Given the description of an element on the screen output the (x, y) to click on. 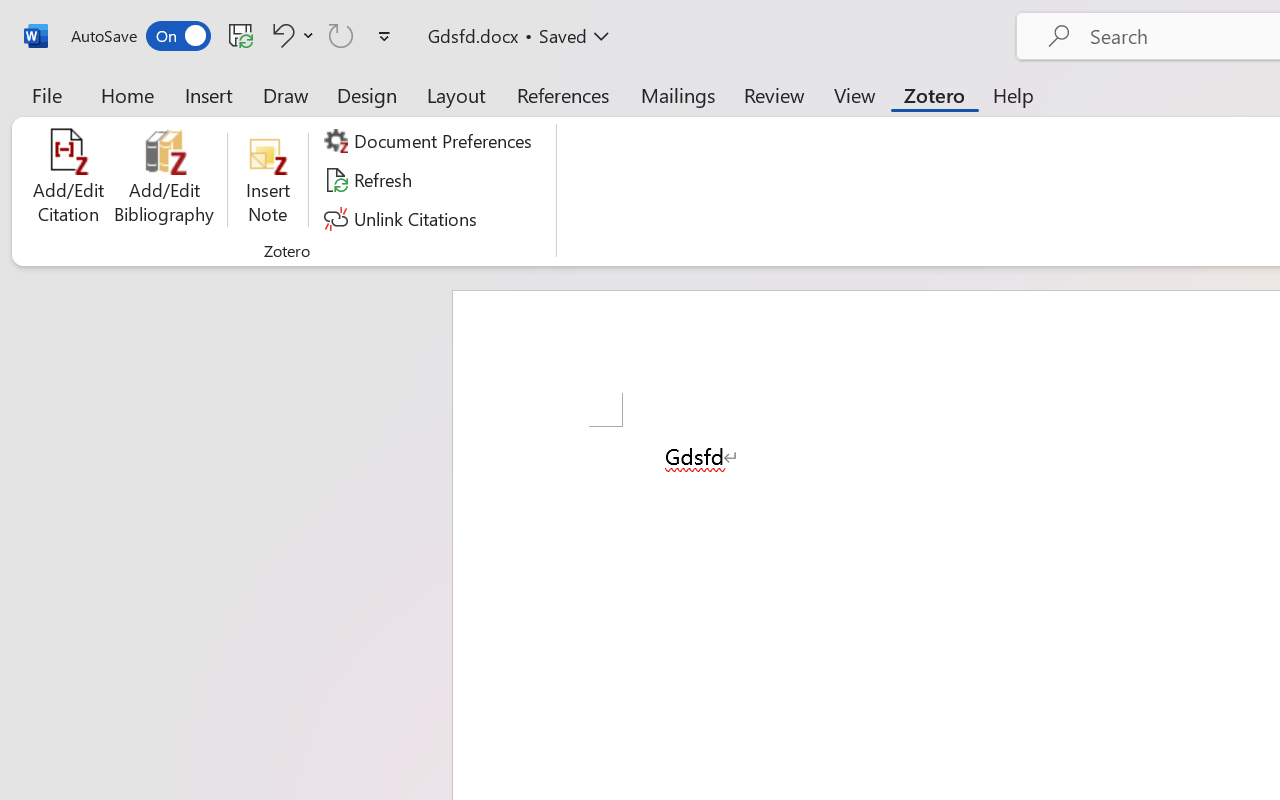
Add/Edit Citation (68, 179)
Undo <ApplyStyleToDoc>b__0 (290, 35)
Insert Note (267, 179)
Undo <ApplyStyleToDoc>b__0 (280, 35)
Unlink Citations (403, 218)
